Given the description of an element on the screen output the (x, y) to click on. 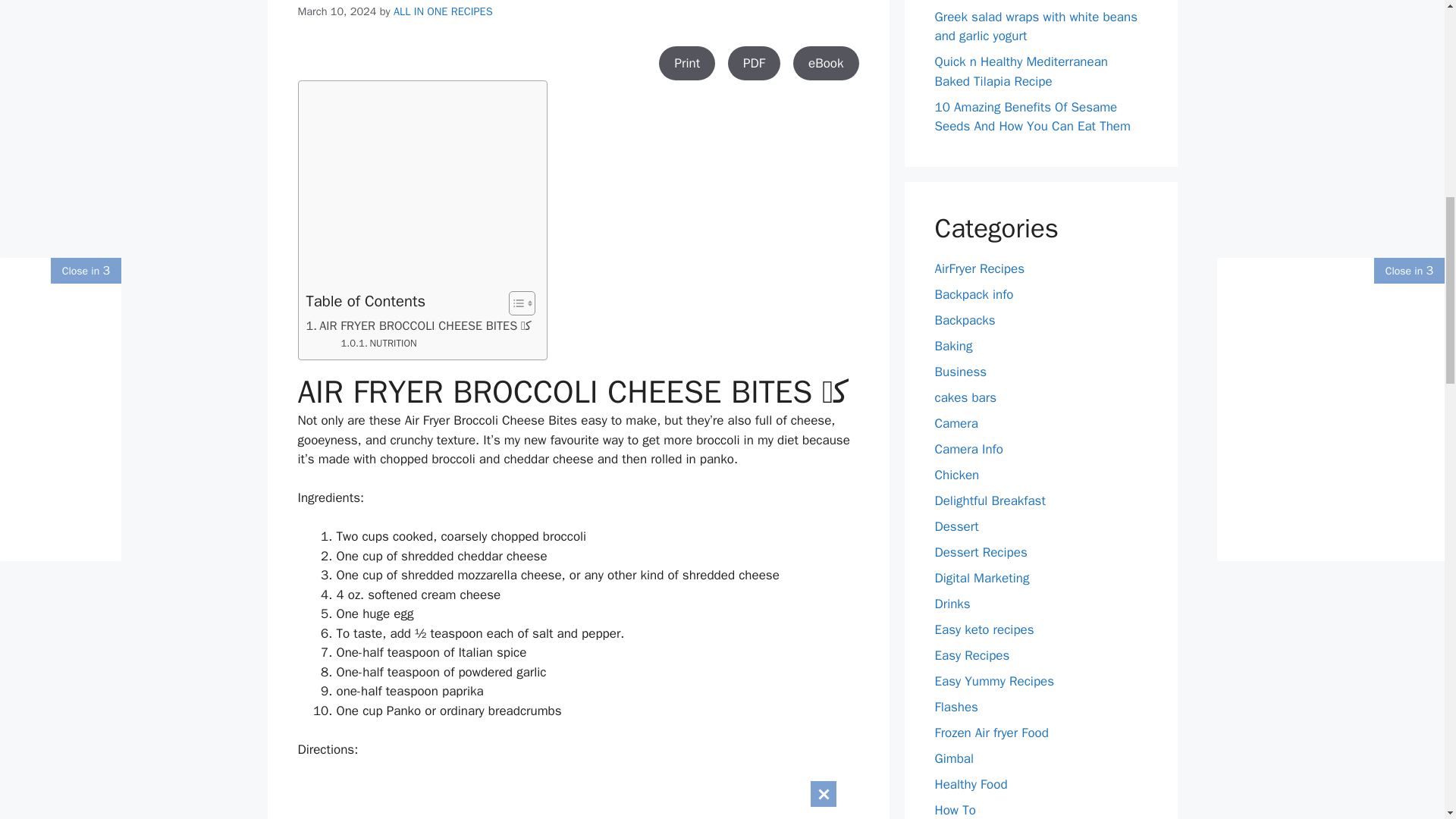
eBook (826, 63)
Print (686, 63)
NUTRITION (378, 343)
ALL IN ONE RECIPES (443, 11)
View all posts by ALL IN ONE RECIPES (443, 11)
NUTRITION (378, 343)
PDF (754, 63)
